Given the description of an element on the screen output the (x, y) to click on. 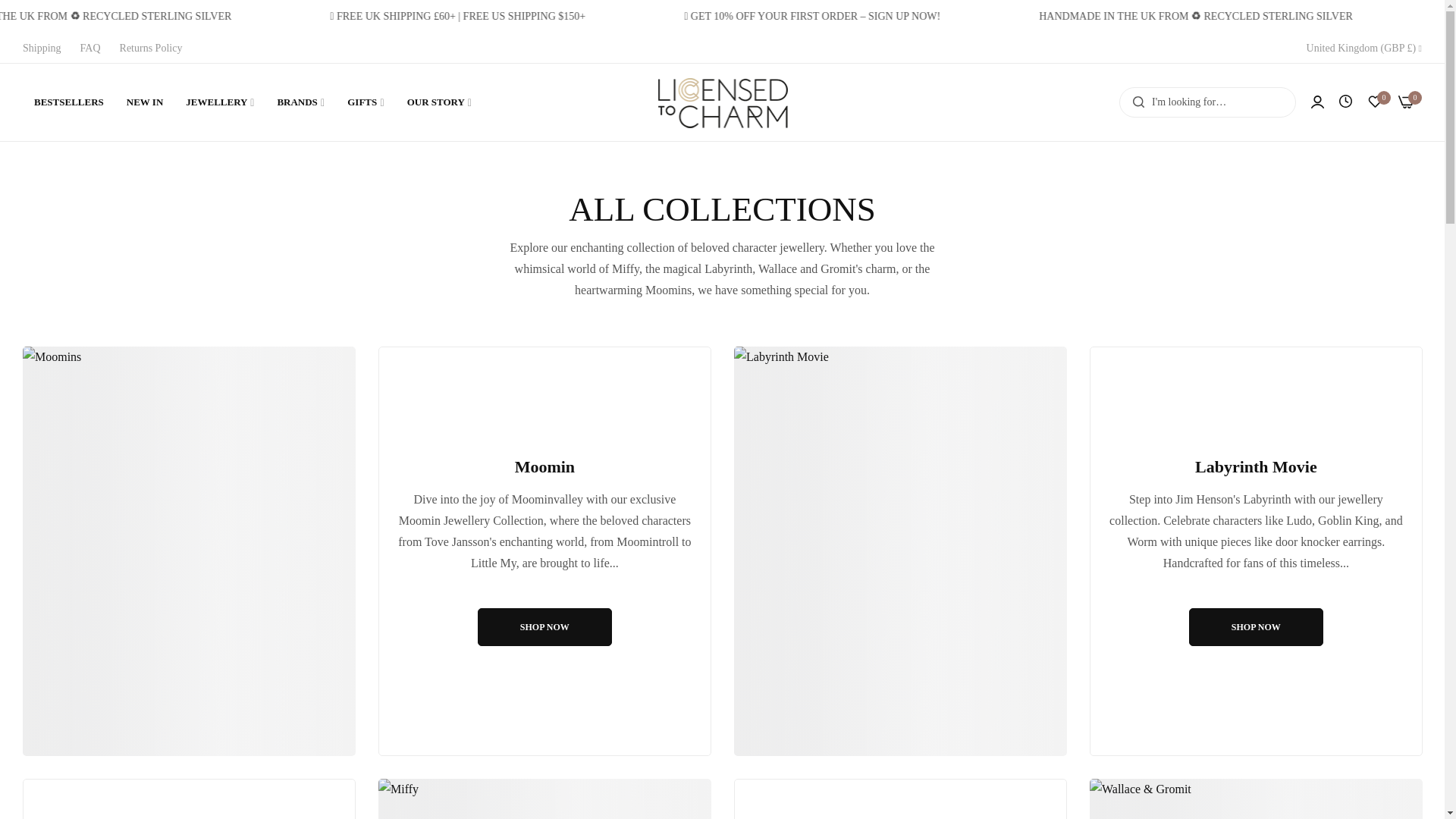
Shipping (42, 48)
Returns Policy (151, 48)
Licensed to Charm (722, 102)
FAQ (90, 48)
